Given the description of an element on the screen output the (x, y) to click on. 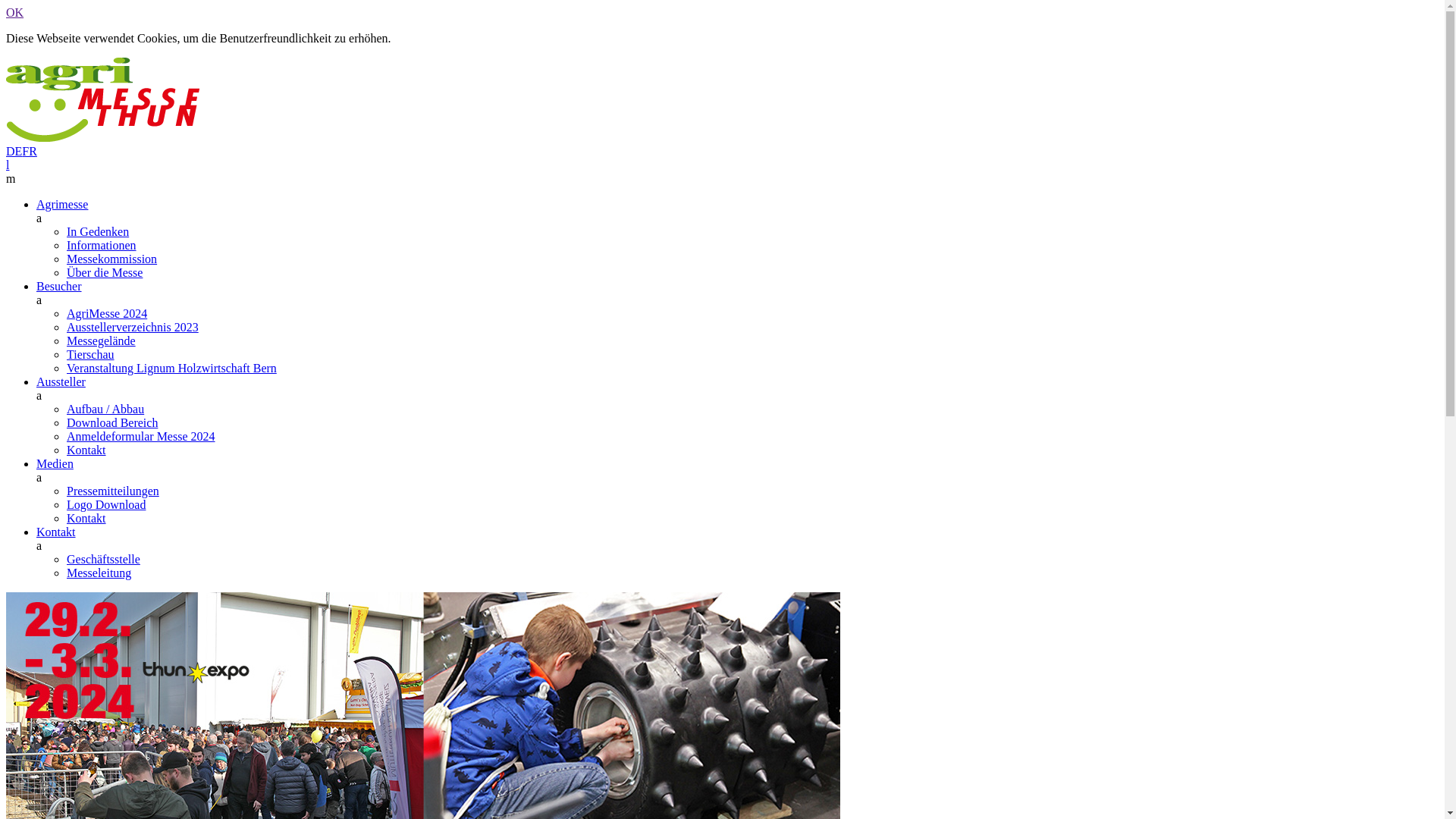
FR Element type: text (29, 150)
Messekommission Element type: text (111, 258)
Informationen Element type: text (101, 244)
Medien Element type: text (54, 463)
OK Element type: text (14, 12)
In Gedenken Element type: text (97, 231)
l Element type: text (7, 164)
Pressemitteilungen Element type: text (112, 490)
Tierschau Element type: text (90, 354)
DE Element type: text (13, 150)
Aussteller Element type: text (60, 381)
Kontakt Element type: text (86, 517)
AgriMesse 2024 Element type: text (106, 313)
Anmeldeformular Messe 2024 Element type: text (140, 435)
Messeleitung Element type: text (98, 572)
Download Bereich Element type: text (111, 422)
Logo Download Element type: text (105, 504)
Veranstaltung Lignum Holzwirtschaft Bern Element type: text (171, 367)
Ausstellerverzeichnis 2023 Element type: text (132, 326)
Kontakt Element type: text (86, 449)
Besucher Element type: text (58, 285)
Kontakt Element type: text (55, 531)
Agrimesse Element type: text (61, 203)
Aufbau / Abbau Element type: text (105, 408)
